Given the description of an element on the screen output the (x, y) to click on. 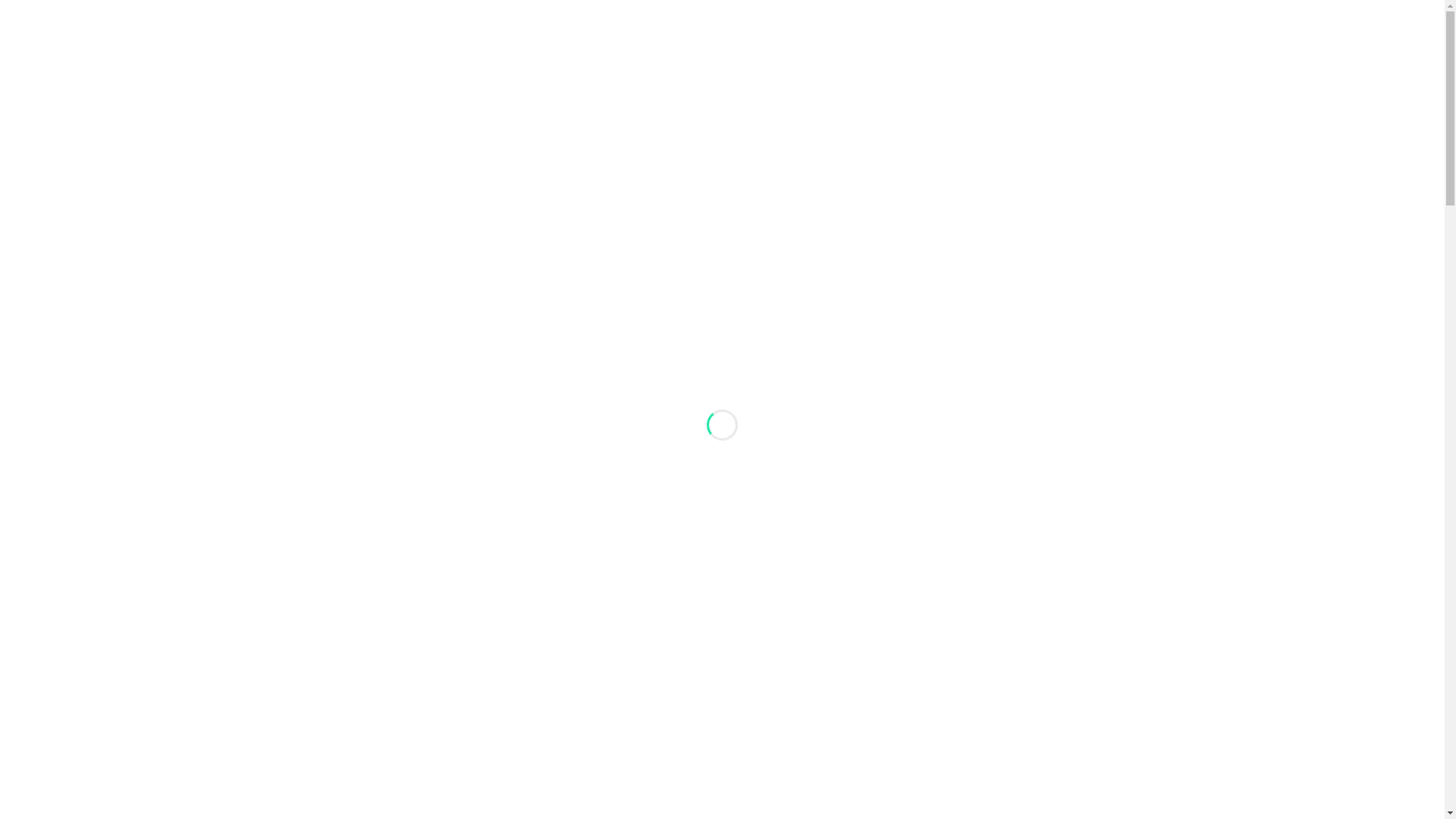
Show Menu Element type: hover (1070, 166)
#MEDIA Element type: hover (379, 165)
Show content Element type: hover (1061, 222)
